Given the description of an element on the screen output the (x, y) to click on. 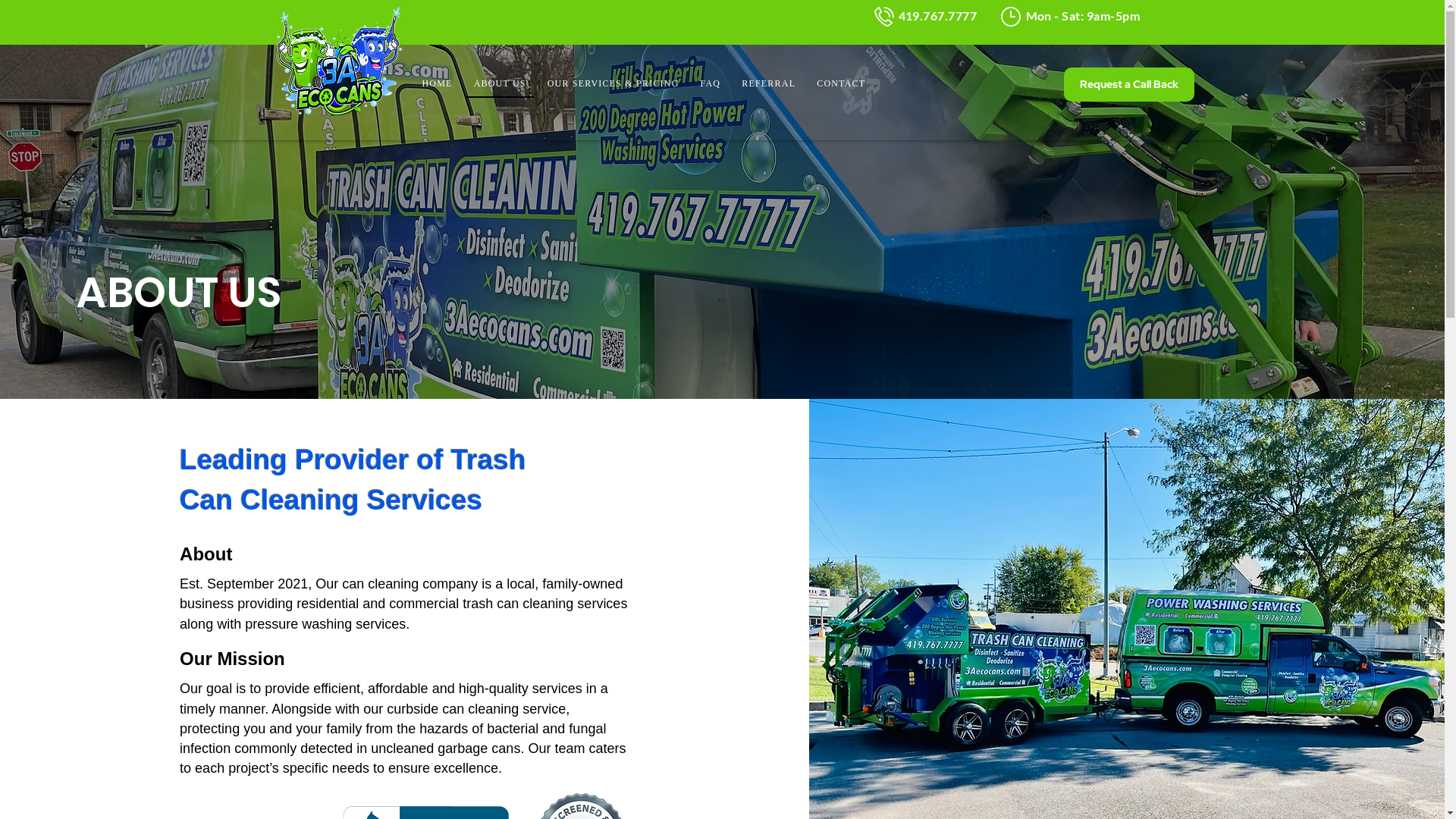
CONTACT Element type: text (840, 83)
ABOUT US Element type: text (499, 83)
Mon - Sat: 9am-5pm Element type: text (1082, 16)
Request a Call Back Element type: text (1128, 84)
REFERRAL Element type: text (768, 83)
HOME Element type: text (436, 83)
FAQ Element type: text (710, 83)
419.767.7777  Element type: text (938, 16)
